Given the description of an element on the screen output the (x, y) to click on. 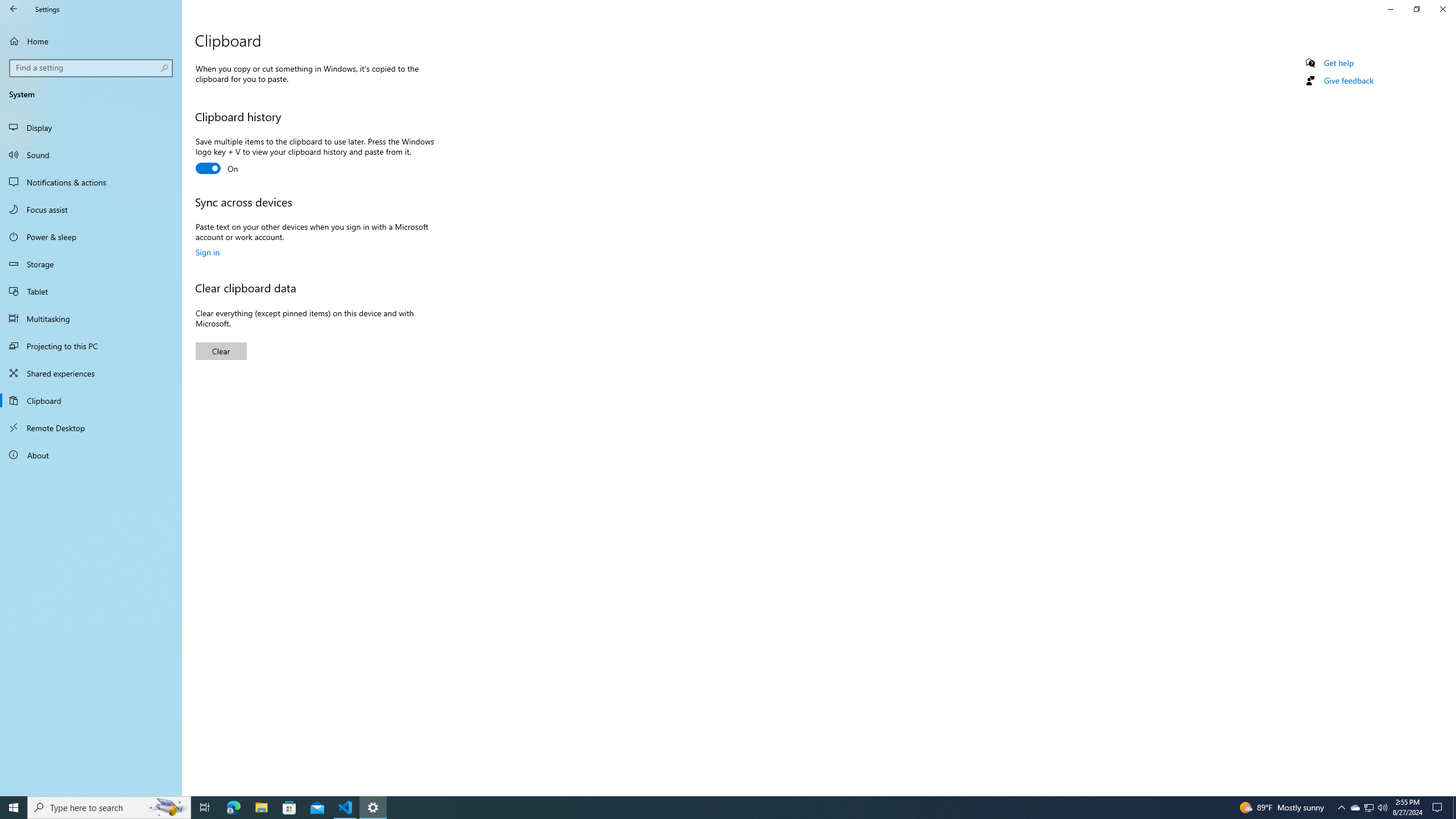
Search highlights icon opens search home window (167, 807)
Home (1355, 807)
Type here to search (91, 40)
Back (108, 807)
Power & sleep (13, 9)
Notification Chevron (91, 236)
Microsoft Store (1341, 807)
Clear (289, 807)
Close Settings (221, 351)
File Explorer (1442, 9)
Running applications (261, 807)
Q2790: 100% (717, 807)
Settings - 1 running window (1382, 807)
